Given the description of an element on the screen output the (x, y) to click on. 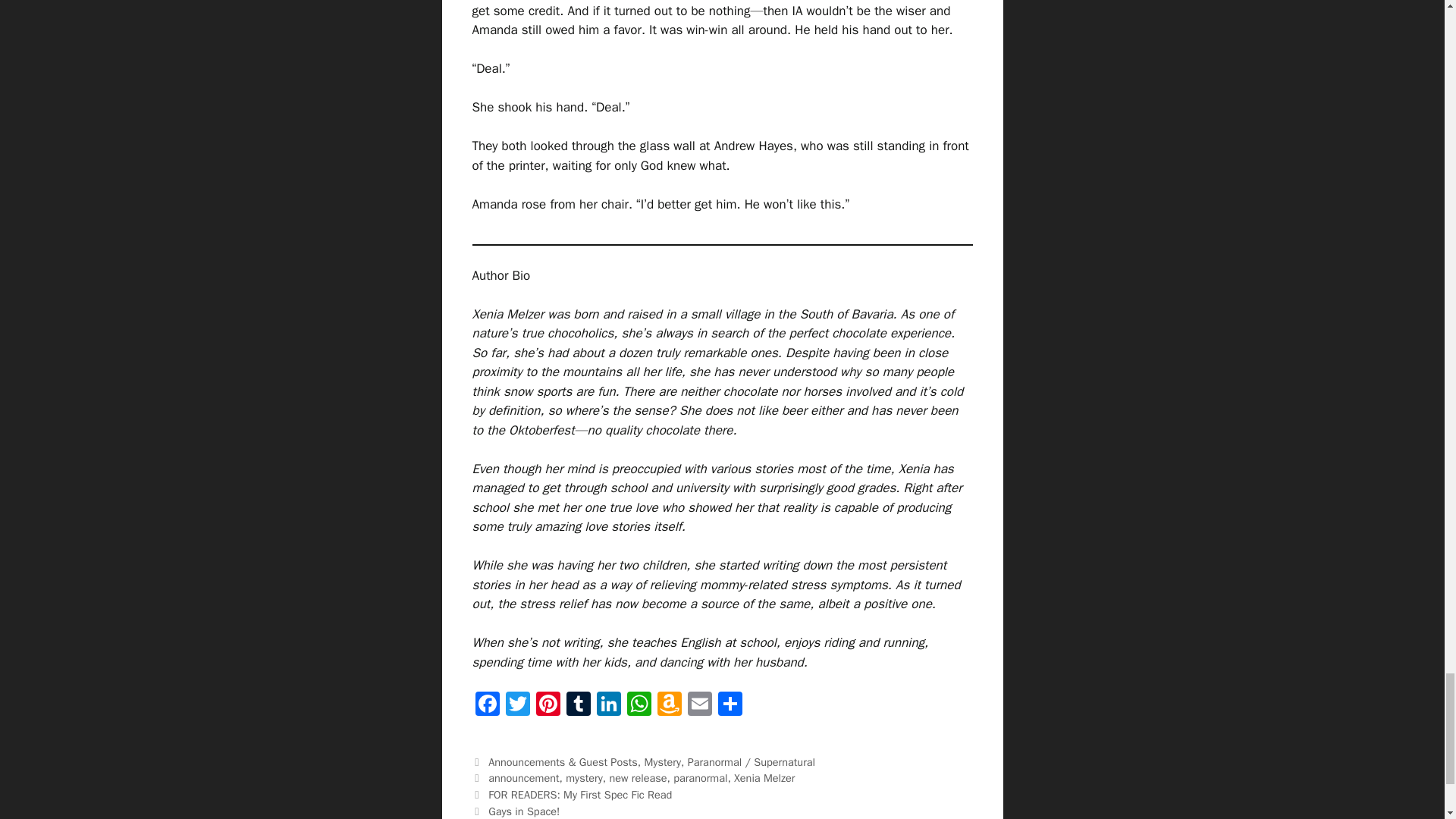
Email (699, 705)
Tumblr (577, 705)
Twitter (517, 705)
WhatsApp (638, 705)
LinkedIn (607, 705)
Facebook (486, 705)
Amazon Wish List (668, 705)
Pinterest (547, 705)
